Given the description of an element on the screen output the (x, y) to click on. 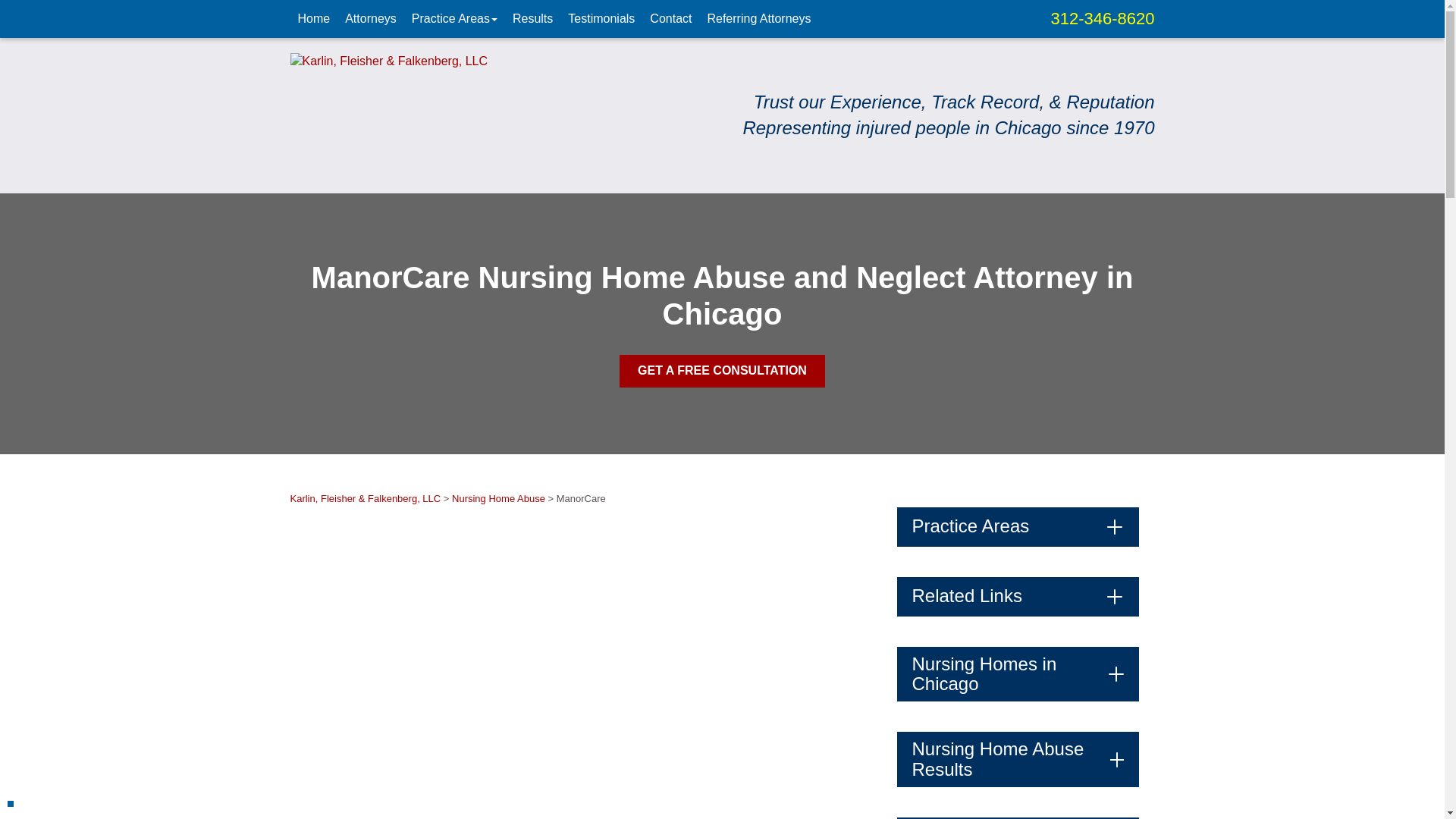
GET A FREE CONSULTATION (722, 370)
Results (532, 18)
Referring Attorneys (758, 18)
312-346-8620 (1101, 18)
Practice Areas (454, 18)
Go to Nursing Home Abuse. (497, 498)
Attorneys (370, 18)
Testimonials (601, 18)
Home (313, 18)
Contact (670, 18)
Nursing Home Abuse (497, 498)
